Given the description of an element on the screen output the (x, y) to click on. 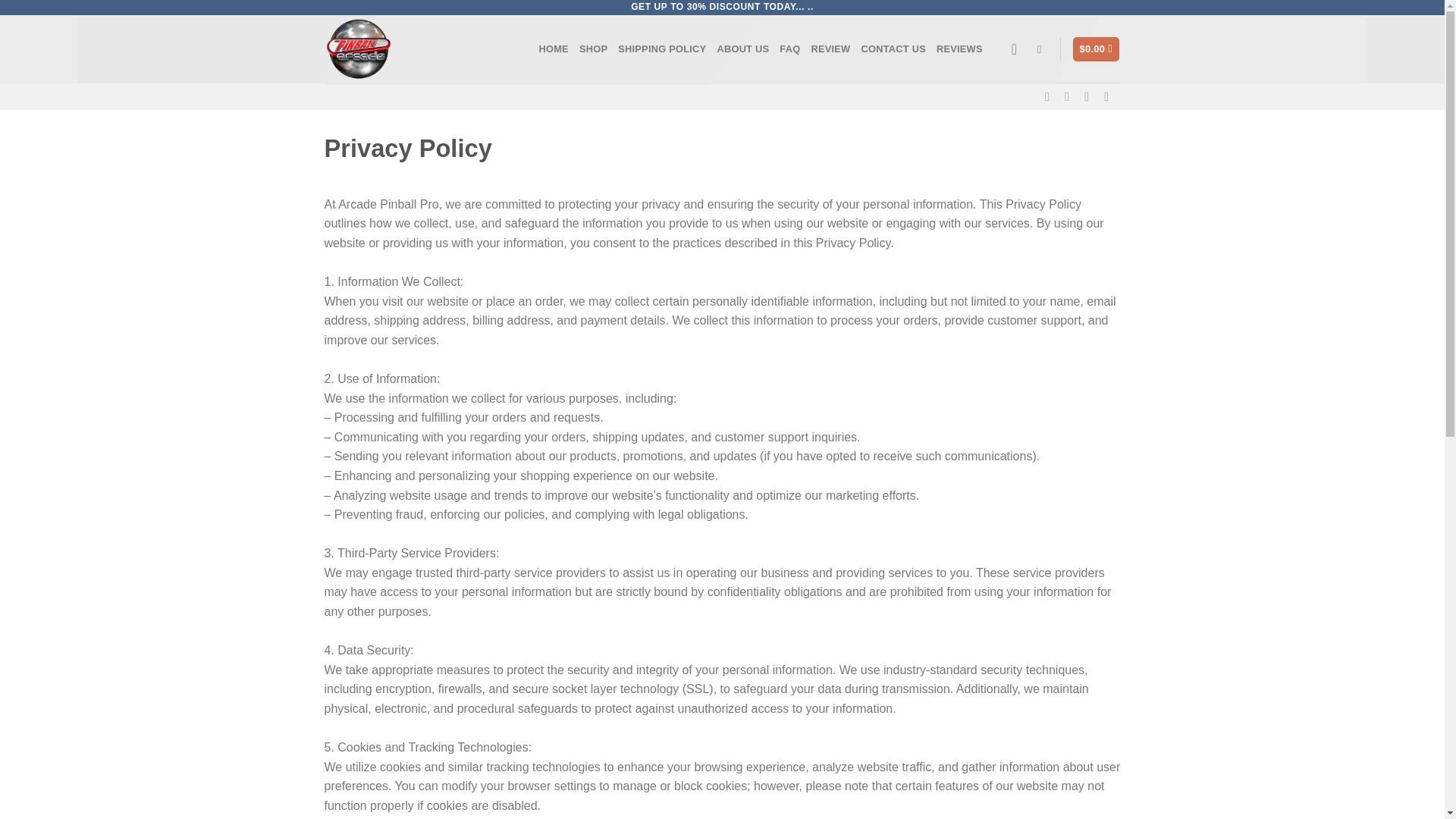
SHOP (593, 49)
ABOUT US (742, 49)
CONTACT US (893, 49)
SHIPPING POLICY (661, 49)
Cart (1096, 49)
Follow on Twitter (1090, 96)
Pinball Machine - Pinball Machine for Sale (420, 49)
HOME (552, 49)
REVIEW (830, 49)
Send us an email (1109, 96)
